Given the description of an element on the screen output the (x, y) to click on. 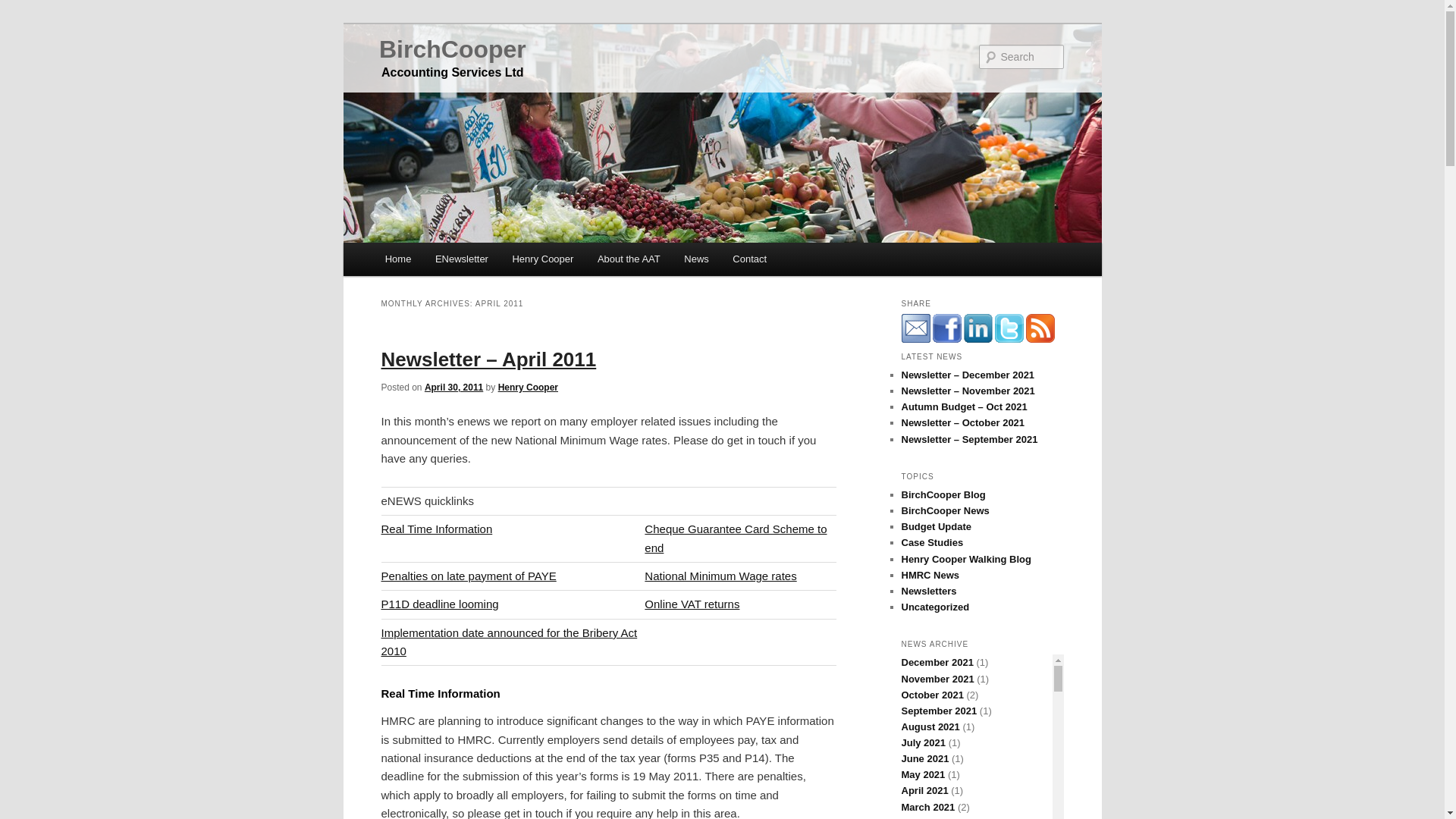
Home (397, 258)
Real Time Information (436, 528)
Online VAT returns (692, 603)
Skip to secondary content (459, 261)
subscribe to our rss feed (1039, 328)
Cheque Guarantee Card Scheme to end (736, 537)
Henry Cooper (527, 387)
visit our facebook page (946, 328)
2:09 pm (454, 387)
Search (24, 8)
follow us on twitter (1008, 328)
Skip to primary content (452, 261)
News (696, 258)
Penalties on late payment of PAYE (468, 575)
About the AAT (628, 258)
